Given the description of an element on the screen output the (x, y) to click on. 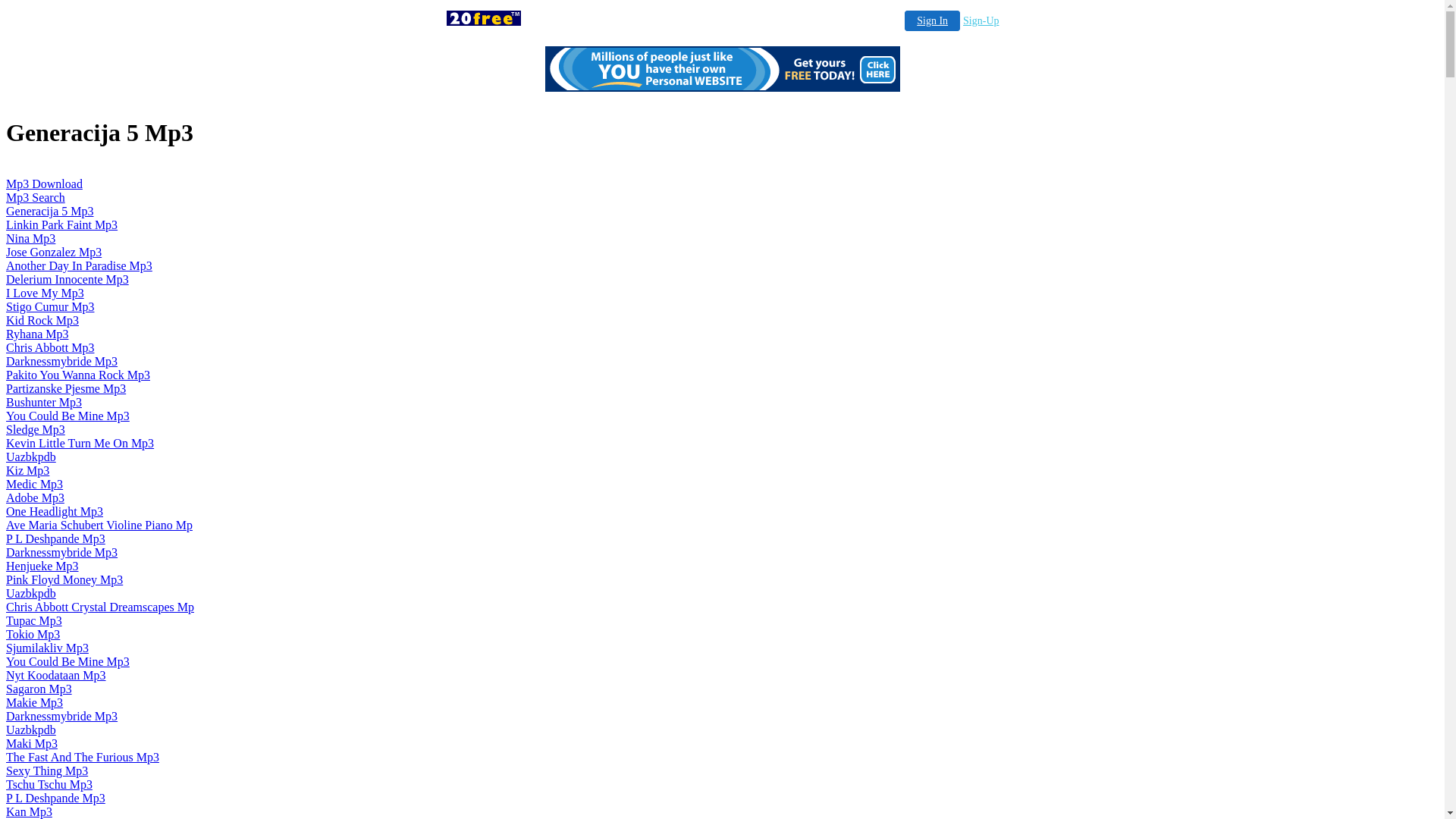
Linkin Park Faint Mp3 Element type: text (61, 224)
Makie Mp3 Element type: text (34, 702)
Darknessmybride Mp3 Element type: text (61, 715)
Sexy Thing Mp3 Element type: text (46, 770)
You Could Be Mine Mp3 Element type: text (67, 661)
I Love My Mp3 Element type: text (45, 292)
Another Day In Paradise Mp3 Element type: text (79, 265)
Tokio Mp3 Element type: text (32, 633)
Sign In Element type: text (932, 20)
Nina Mp3 Element type: text (30, 238)
Sjumilakliv Mp3 Element type: text (47, 647)
The Fast And The Furious Mp3 Element type: text (82, 756)
Ave Maria Schubert Violine Piano Mp Element type: text (99, 524)
Chris Abbott Crystal Dreamscapes Mp Element type: text (100, 606)
Sign-Up Element type: text (980, 20)
Sagaron Mp3 Element type: text (39, 688)
Tupac Mp3 Element type: text (34, 620)
Darknessmybride Mp3 Element type: text (61, 360)
Stigo Cumur Mp3 Element type: text (50, 306)
Nyt Koodataan Mp3 Element type: text (56, 674)
Maki Mp3 Element type: text (31, 743)
Uazbkpdb Element type: text (31, 592)
Ryhana Mp3 Element type: text (37, 333)
Generacija 5 Mp3 Element type: text (50, 210)
Delerium Innocente Mp3 Element type: text (67, 279)
Pink Floyd Money Mp3 Element type: text (64, 579)
You Could Be Mine Mp3 Element type: text (67, 415)
Kan Mp3 Element type: text (29, 811)
Mp3 Download Element type: text (44, 183)
Kid Rock Mp3 Element type: text (42, 319)
Darknessmybride Mp3 Element type: text (61, 552)
Medic Mp3 Element type: text (34, 483)
Uazbkpdb Element type: text (31, 456)
Jose Gonzalez Mp3 Element type: text (53, 251)
Adobe Mp3 Element type: text (35, 497)
Uazbkpdb Element type: text (31, 729)
Bushunter Mp3 Element type: text (43, 401)
Kevin Little Turn Me On Mp3 Element type: text (79, 442)
Tschu Tschu Mp3 Element type: text (49, 784)
P L Deshpande Mp3 Element type: text (55, 797)
Pakito You Wanna Rock Mp3 Element type: text (78, 374)
Chris Abbott Mp3 Element type: text (50, 347)
Mp3 Search Element type: text (35, 197)
Partizanske Pjesme Mp3 Element type: text (65, 388)
Sledge Mp3 Element type: text (35, 429)
Henjueke Mp3 Element type: text (42, 565)
P L Deshpande Mp3 Element type: text (55, 538)
Kiz Mp3 Element type: text (27, 470)
One Headlight Mp3 Element type: text (54, 511)
